Given the description of an element on the screen output the (x, y) to click on. 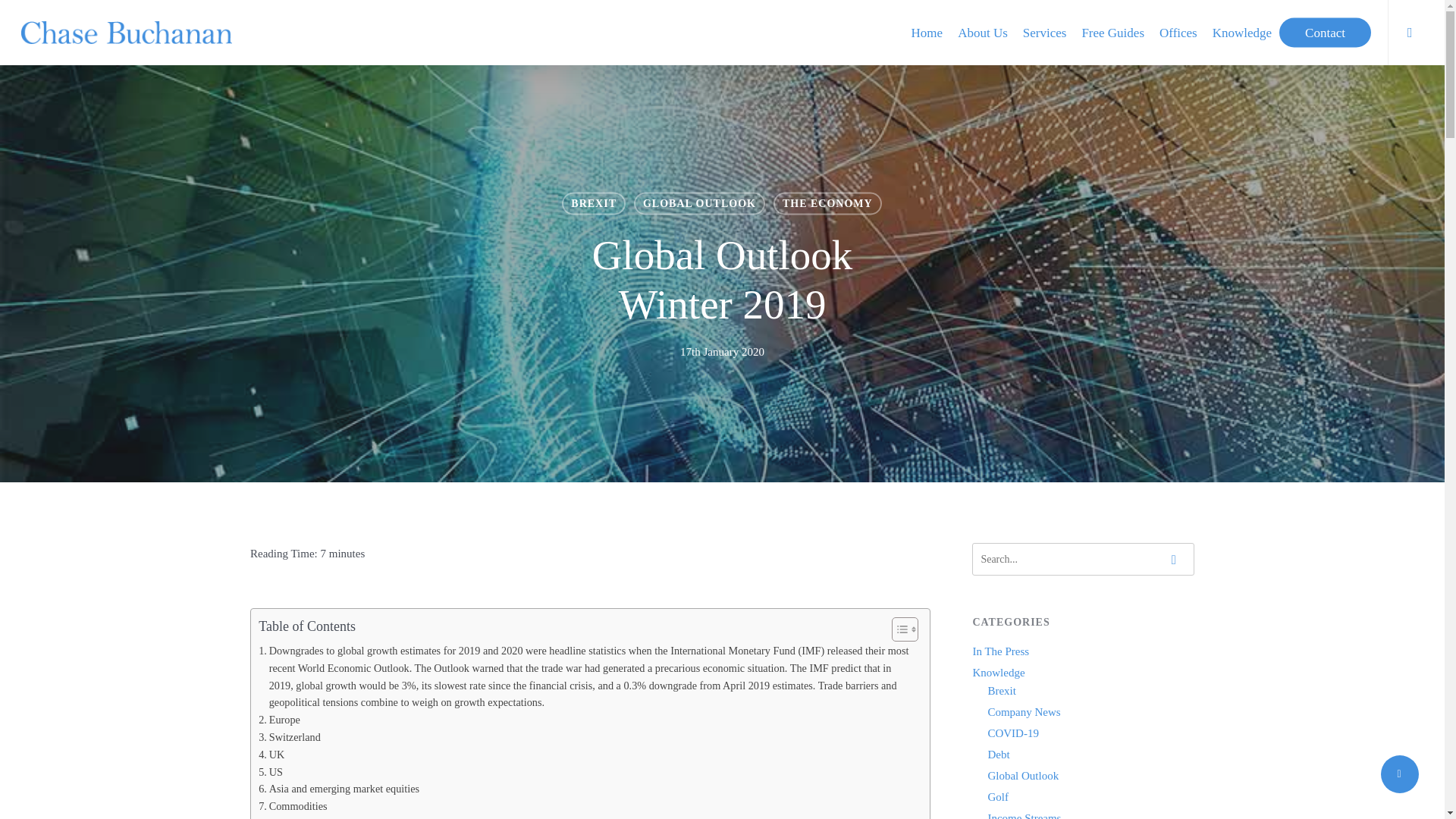
Home (927, 32)
Commodities (292, 805)
Services (1044, 32)
Looking ahead (296, 816)
Search for: (1082, 558)
UK (271, 754)
About Us (982, 32)
Europe (279, 719)
Asia and emerging market equities (339, 788)
Switzerland (289, 737)
Free Guides (1112, 32)
US (270, 772)
